Given the description of an element on the screen output the (x, y) to click on. 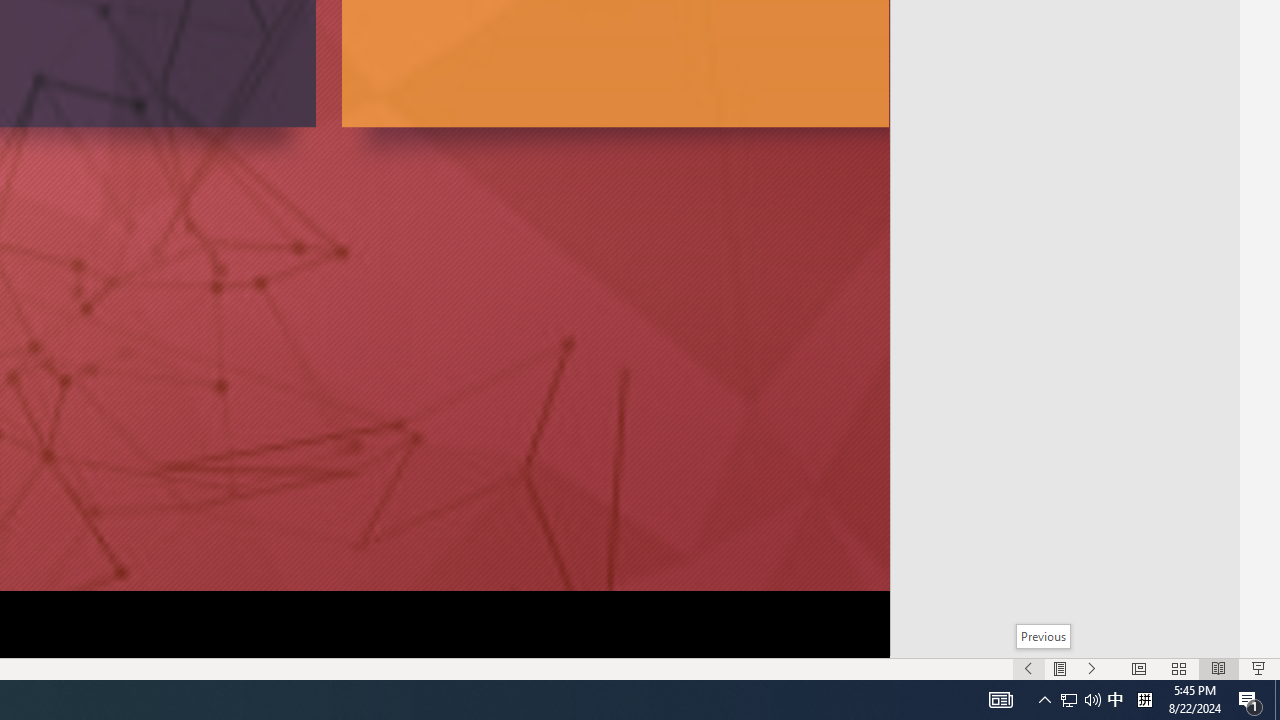
Slide Show Next On (1092, 668)
Menu On (1060, 668)
Slide Sorter (1178, 668)
Slide Show Previous On (1028, 668)
Previous (1043, 636)
Slide Show (1258, 668)
Normal (1138, 668)
Reading View (1219, 668)
